Given the description of an element on the screen output the (x, y) to click on. 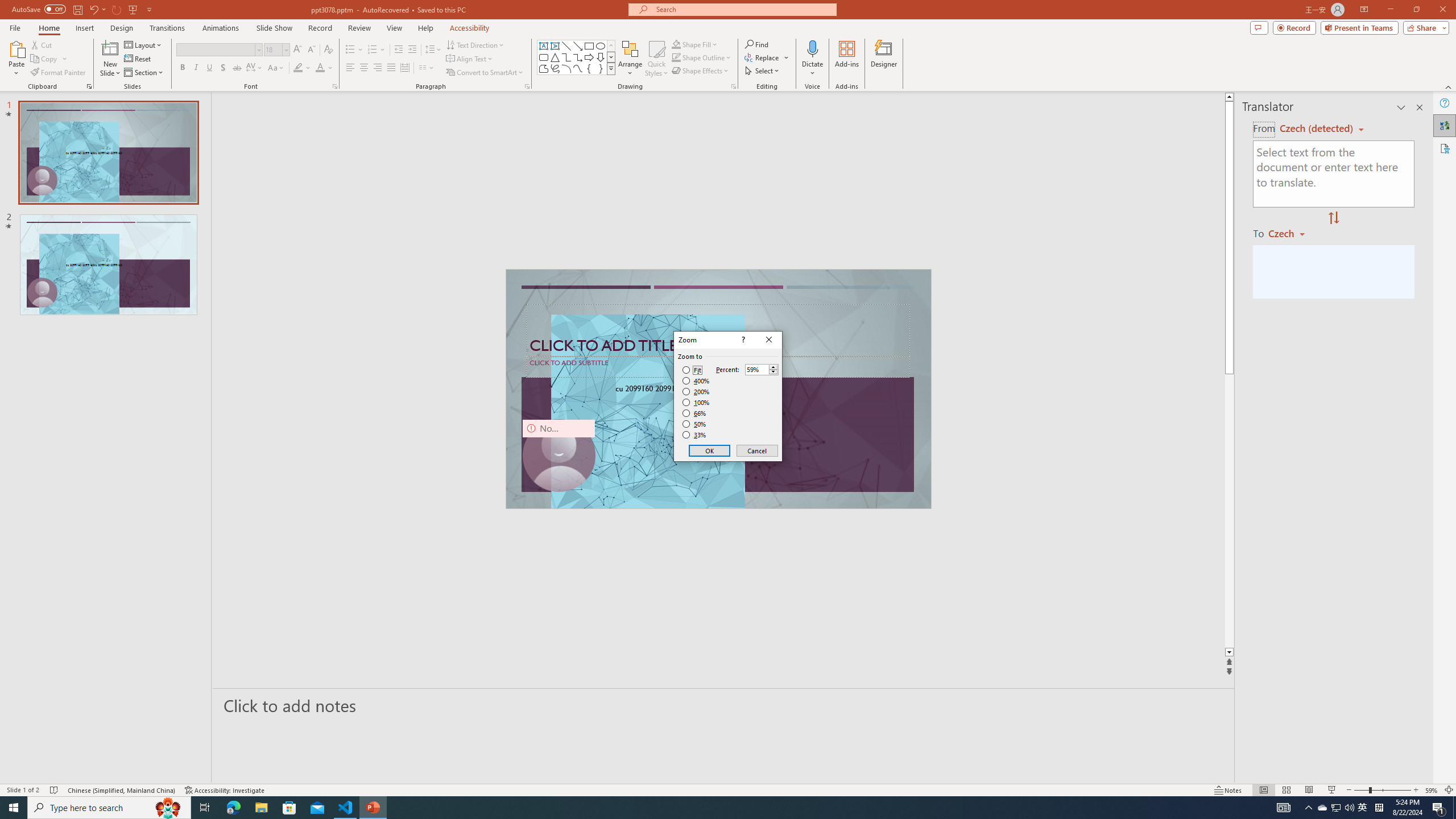
200% (696, 391)
OK (709, 450)
Percent (756, 369)
